Given the description of an element on the screen output the (x, y) to click on. 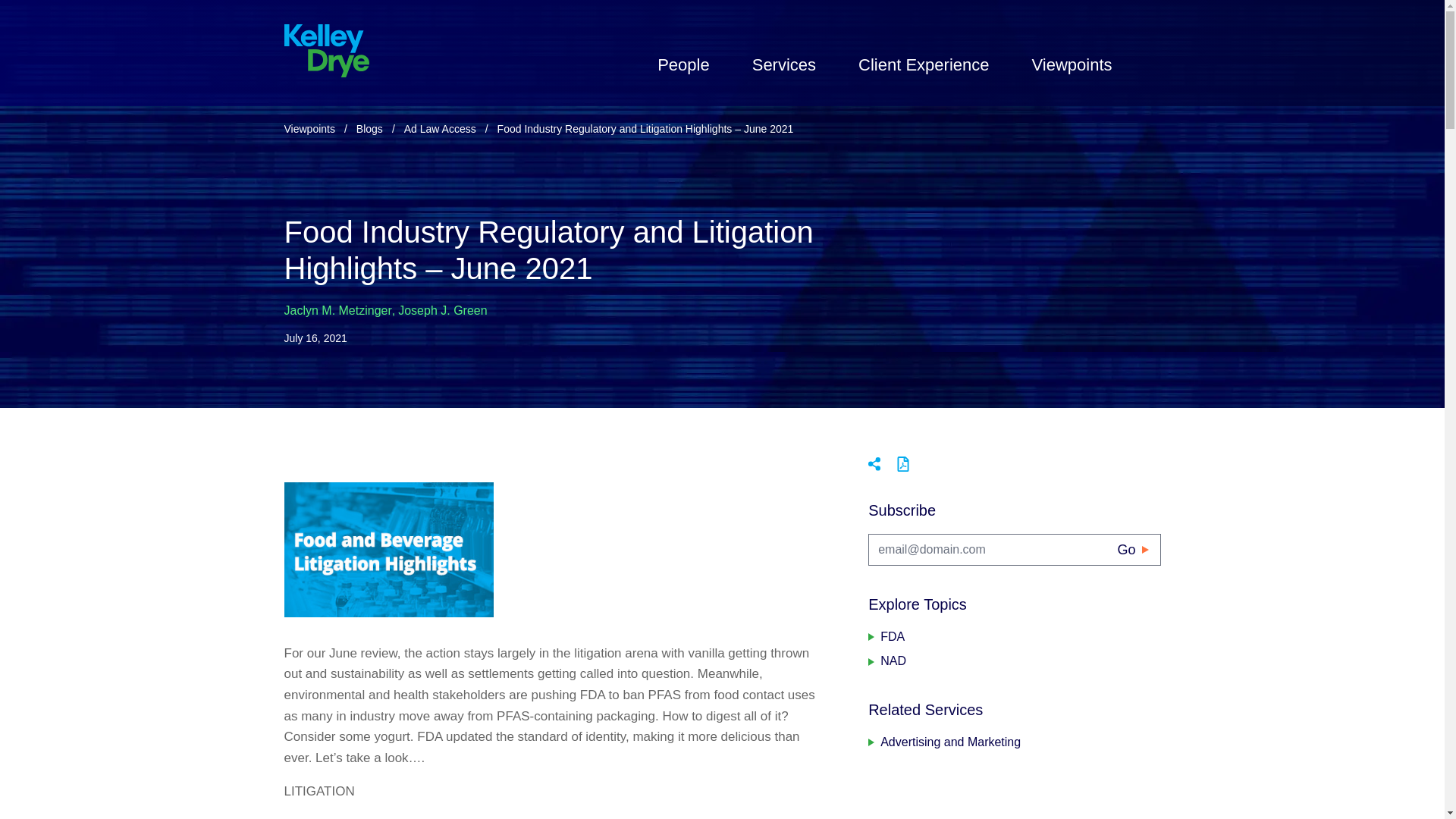
People (684, 64)
Services (783, 64)
